Given the description of an element on the screen output the (x, y) to click on. 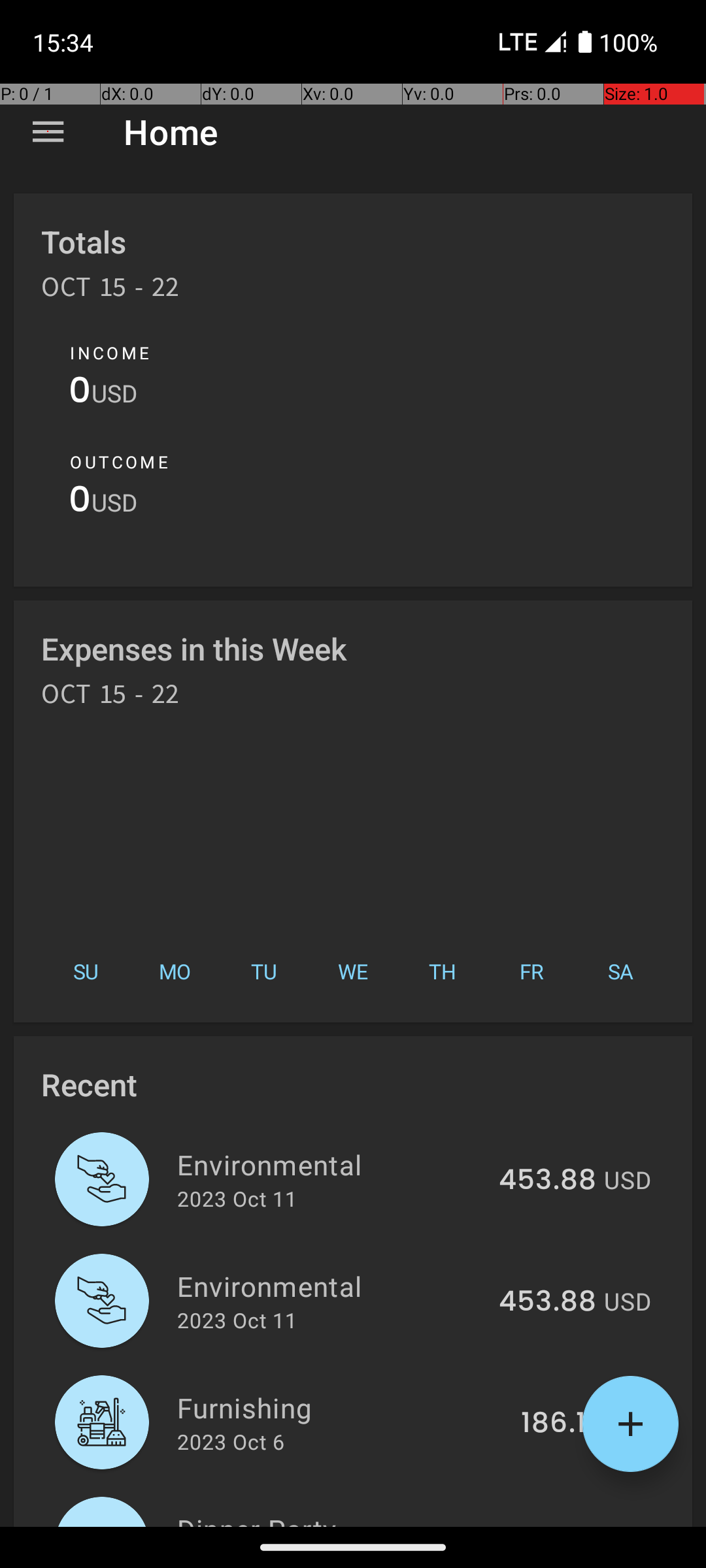
Environmental Element type: android.widget.TextView (330, 1164)
453.88 Element type: android.widget.TextView (547, 1180)
Furnishing Element type: android.widget.TextView (341, 1407)
2023 Oct 6 Element type: android.widget.TextView (230, 1441)
186.11 Element type: android.widget.TextView (558, 1423)
Dinner Party Element type: android.widget.TextView (339, 1518)
26.59 Element type: android.widget.TextView (556, 1524)
